Given the description of an element on the screen output the (x, y) to click on. 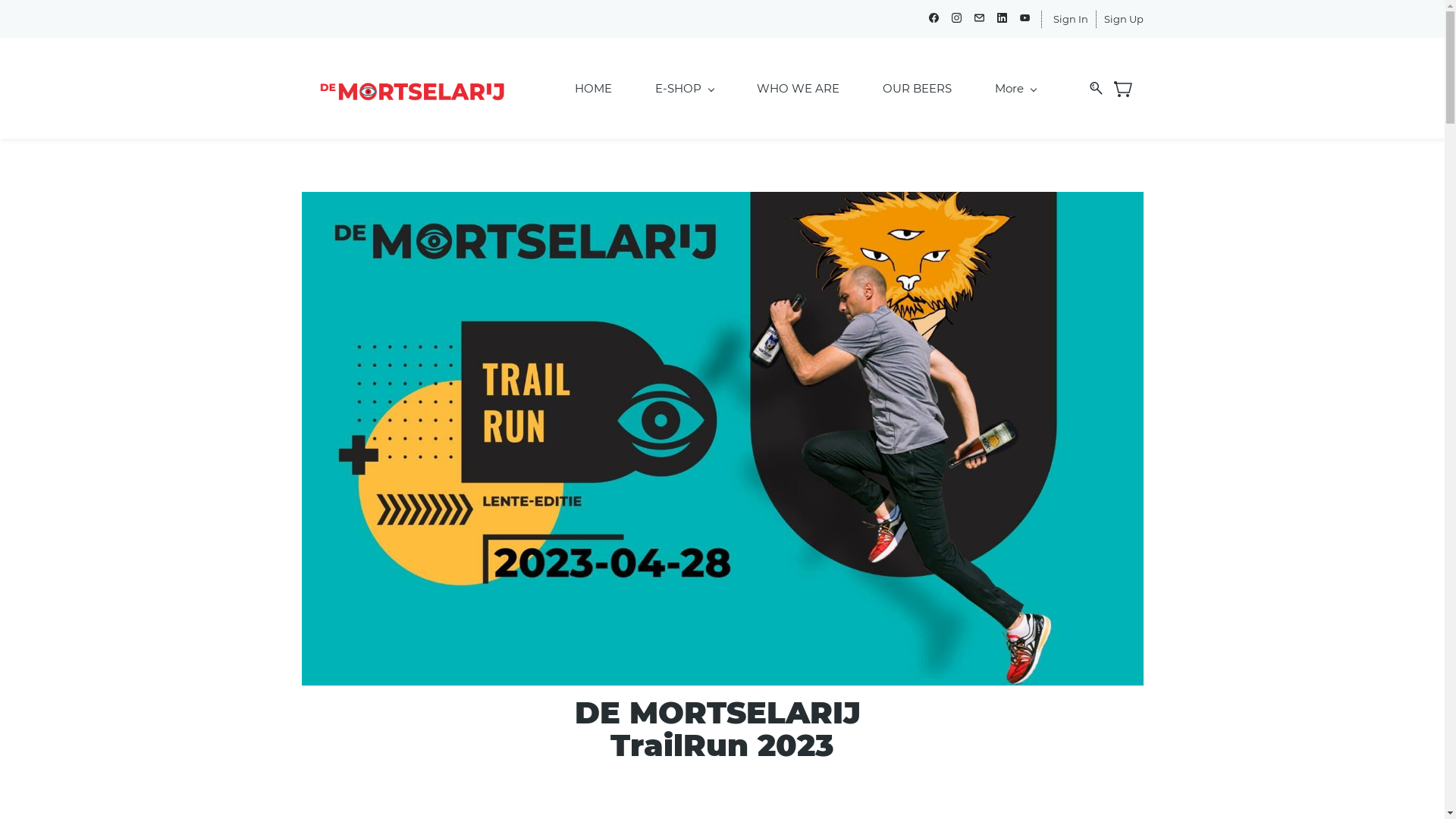
More Element type: text (1015, 88)
OUR BEERS Element type: text (916, 88)
Sign Up Element type: text (1123, 19)
E-SHOP Element type: text (684, 88)
WHO WE ARE Element type: text (797, 88)
HOME Element type: text (593, 88)
Sign In Element type: text (1069, 19)
